Given the description of an element on the screen output the (x, y) to click on. 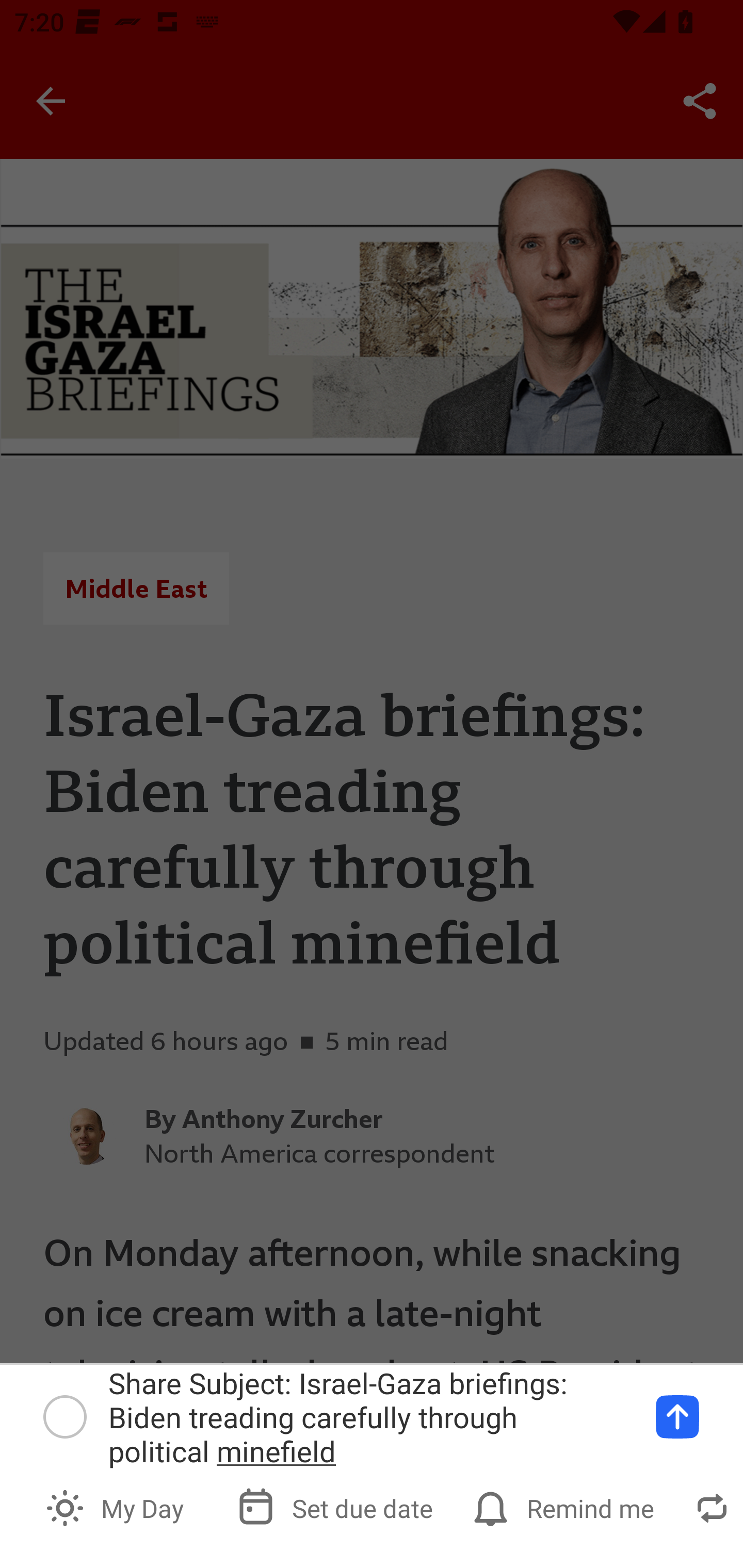
Add a task (676, 1416)
My Day (116, 1507)
Set due date (337, 1507)
Remind me (565, 1507)
